Given the description of an element on the screen output the (x, y) to click on. 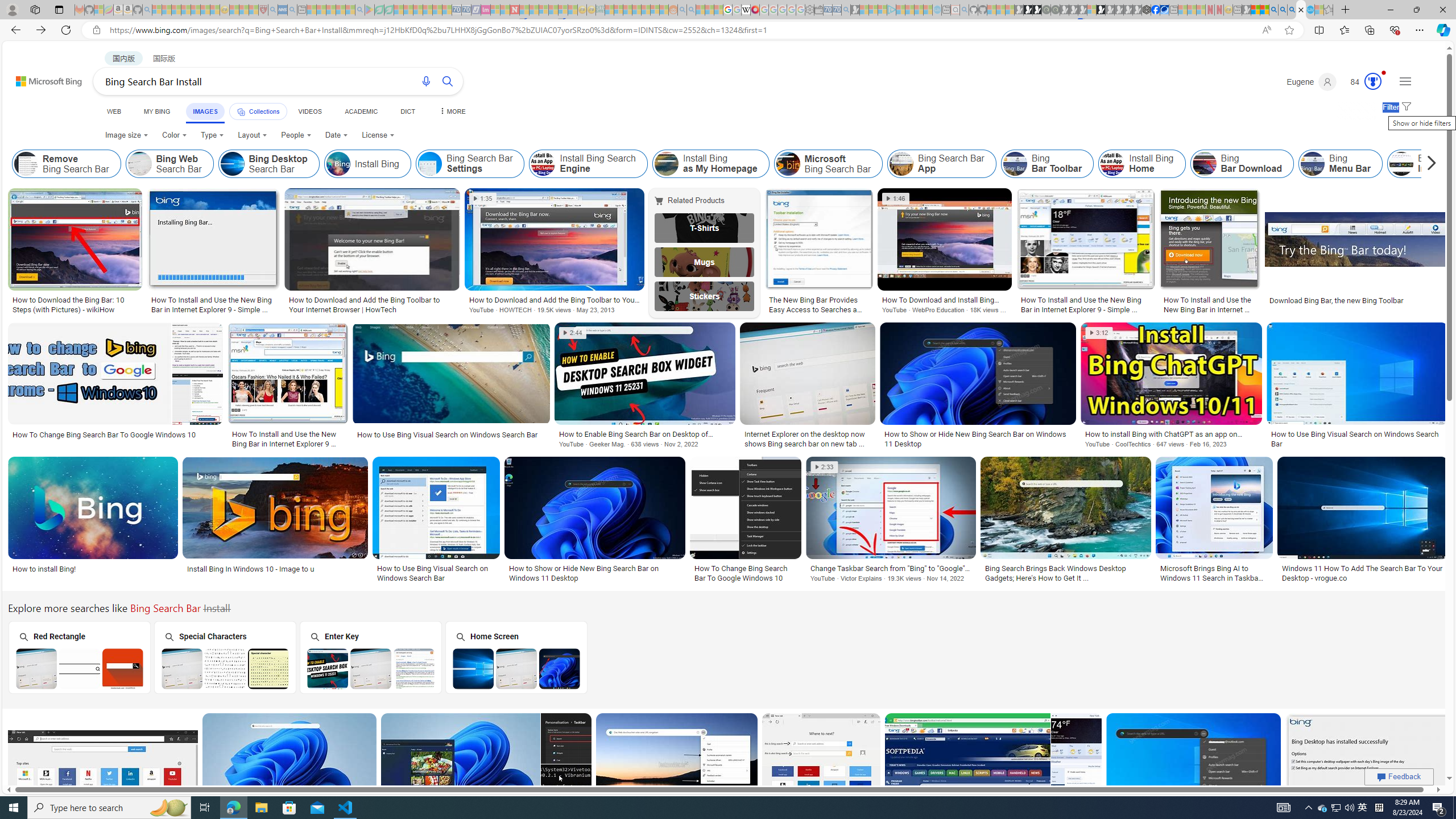
Home Screen (515, 656)
MediaWiki (754, 9)
Install Bing In Windows 10 - Image to uSave (277, 521)
Bing Bar Download (1204, 163)
Filter (1395, 107)
